Given the description of an element on the screen output the (x, y) to click on. 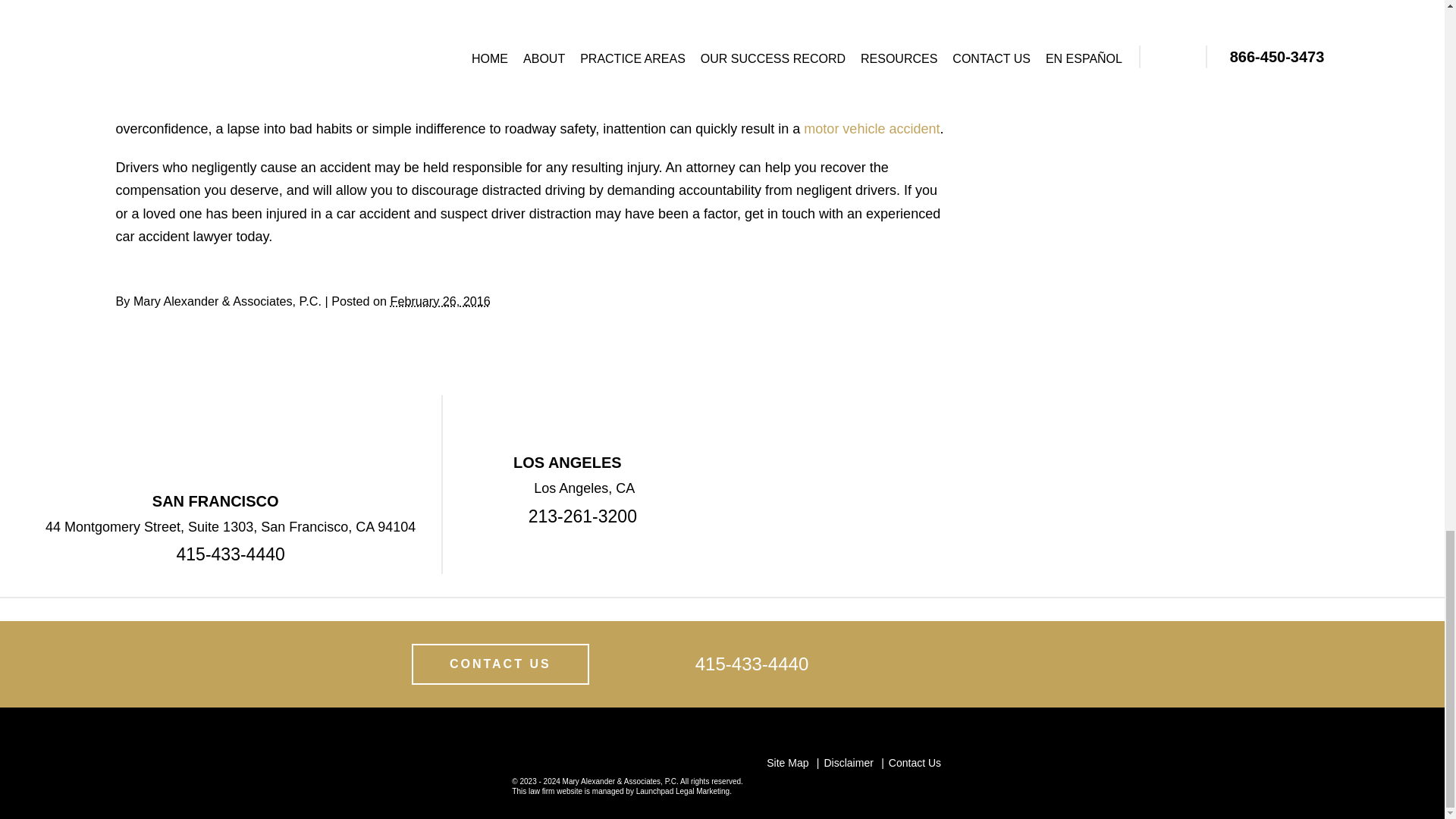
Twitter (149, 269)
2016-02-26T16:29:57-0800 (440, 300)
LinkedIn (160, 269)
Facebook (139, 269)
